Given the description of an element on the screen output the (x, y) to click on. 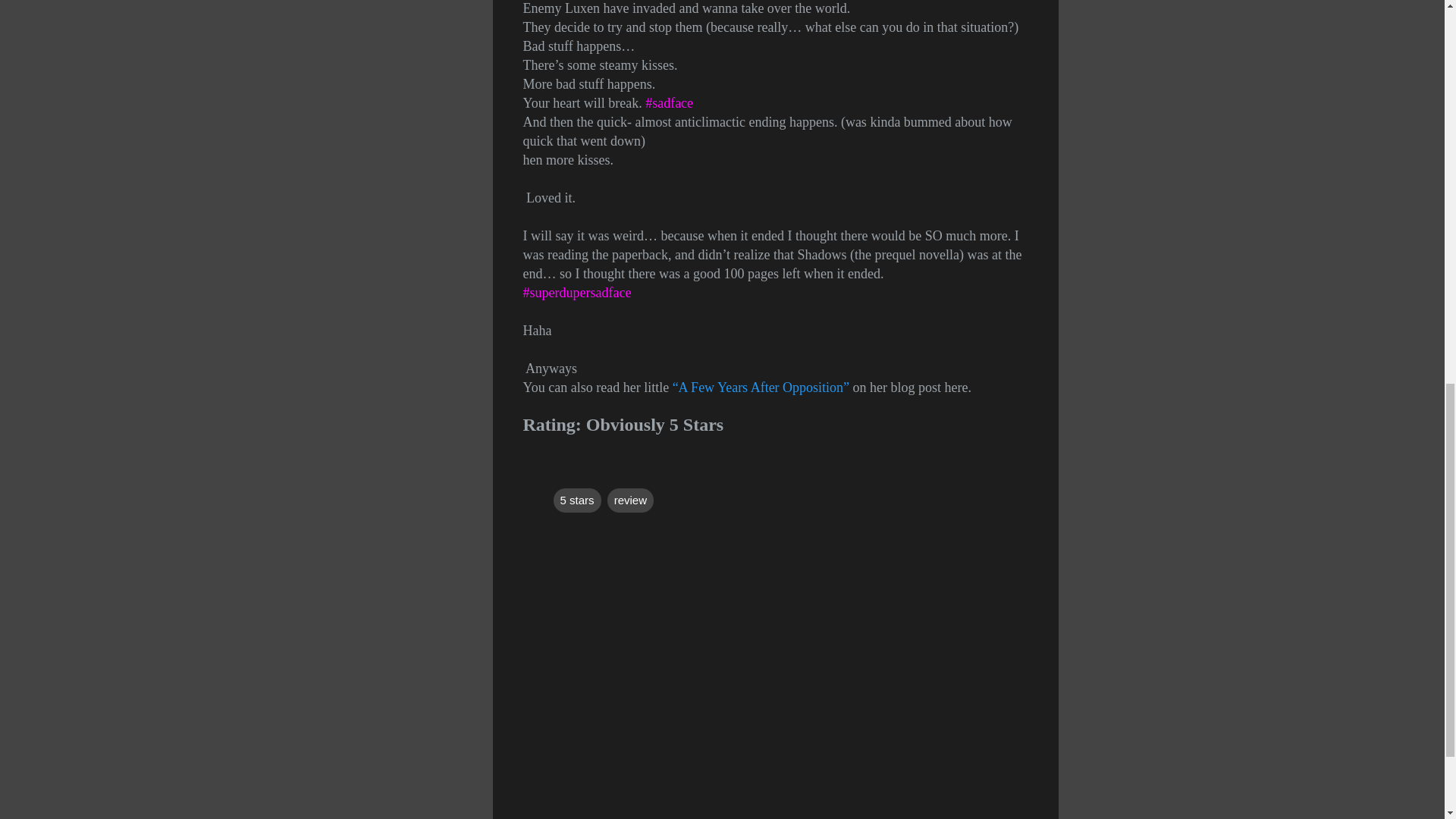
review (630, 500)
5 stars (577, 500)
